Given the description of an element on the screen output the (x, y) to click on. 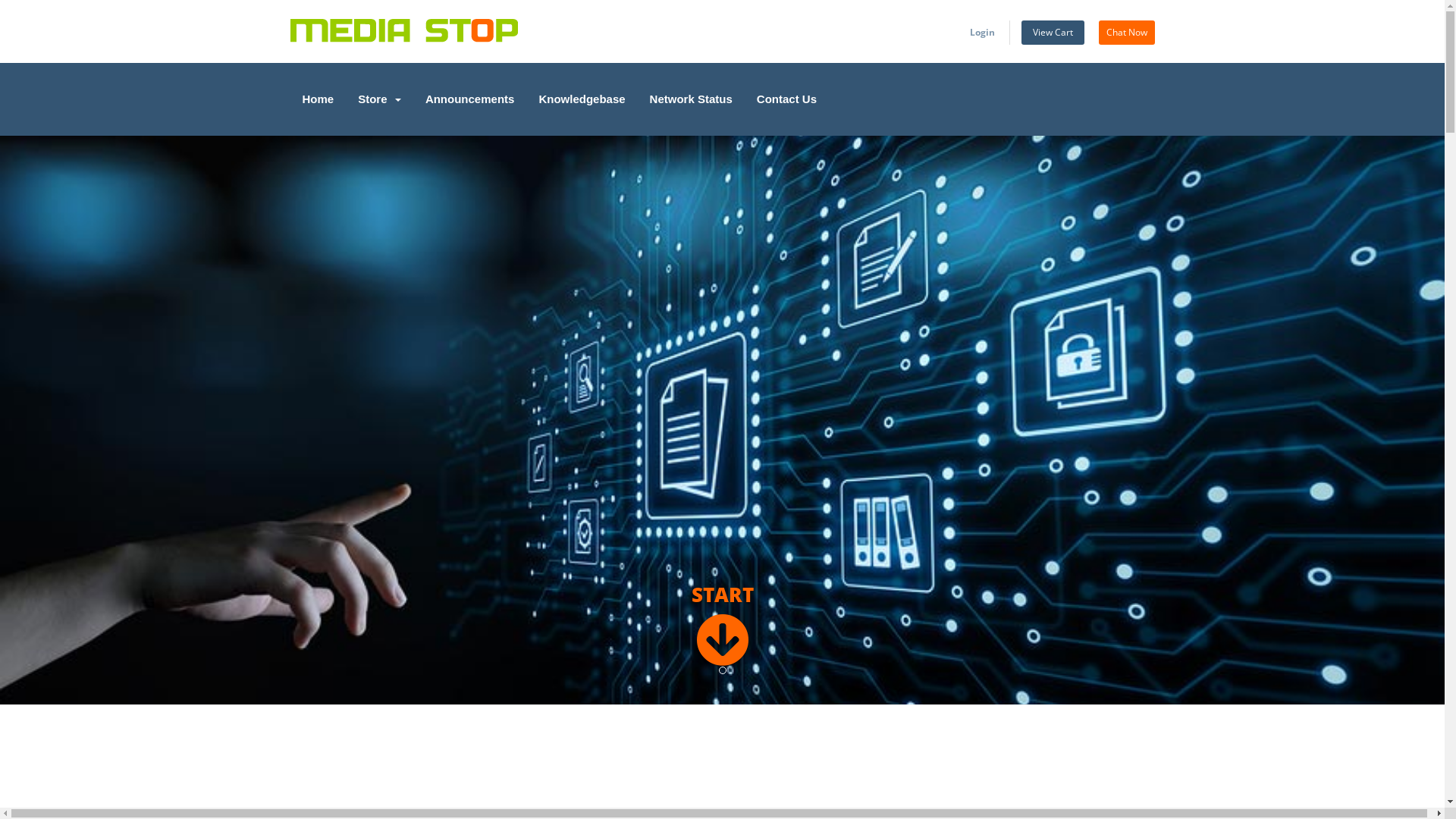
Store   Element type: text (379, 98)
View Cart Element type: text (1051, 32)
Network Status Element type: text (690, 98)
Home Element type: text (317, 98)
Chat Now Element type: text (1126, 32)
Login Element type: text (981, 32)
Announcements Element type: text (470, 98)
Contact Us Element type: text (786, 98)
Knowledgebase Element type: text (581, 98)
